Given the description of an element on the screen output the (x, y) to click on. 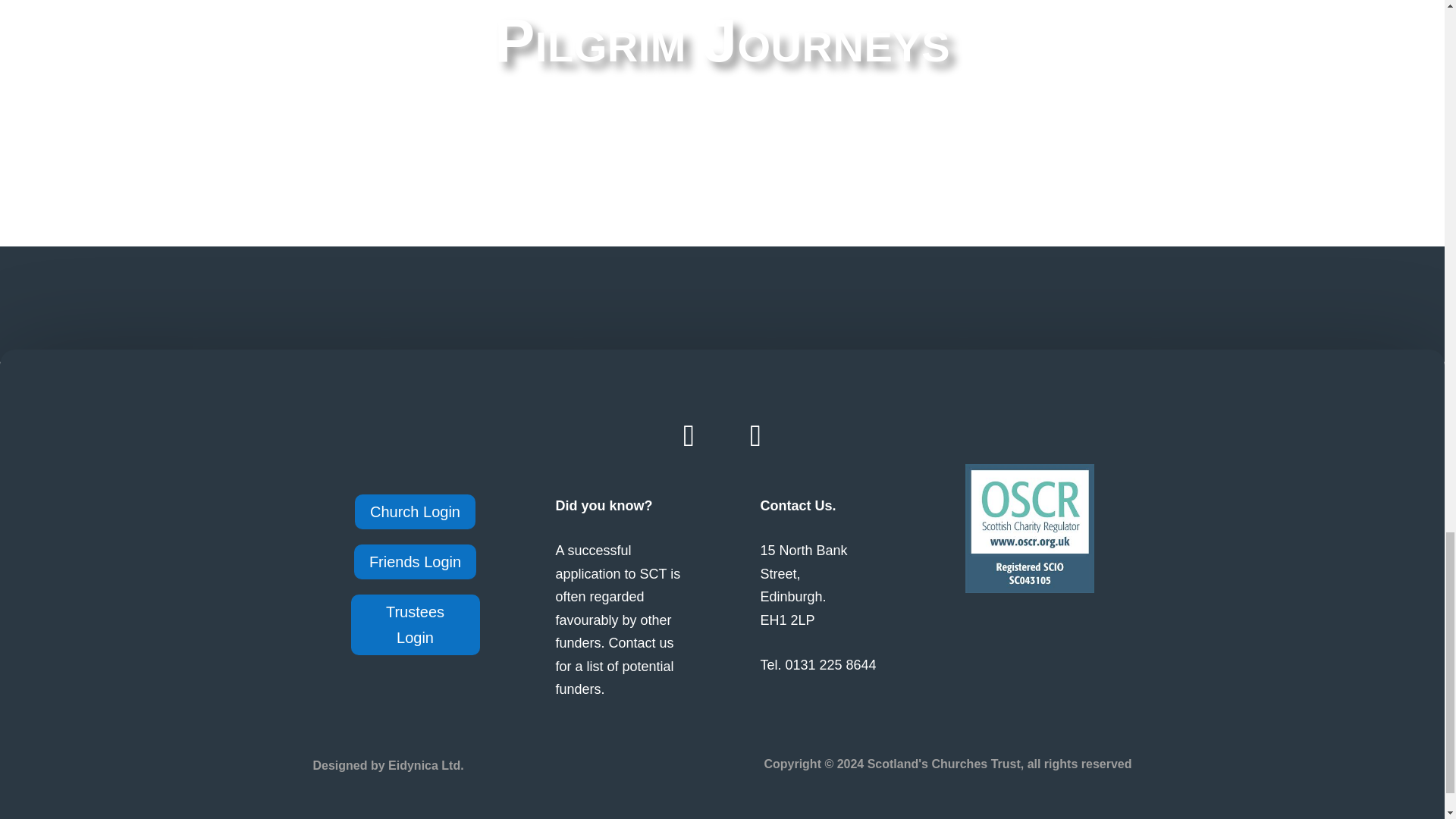
small-blue (1028, 528)
Follow on Facebook (688, 435)
Follow on Twitter (755, 435)
